Given the description of an element on the screen output the (x, y) to click on. 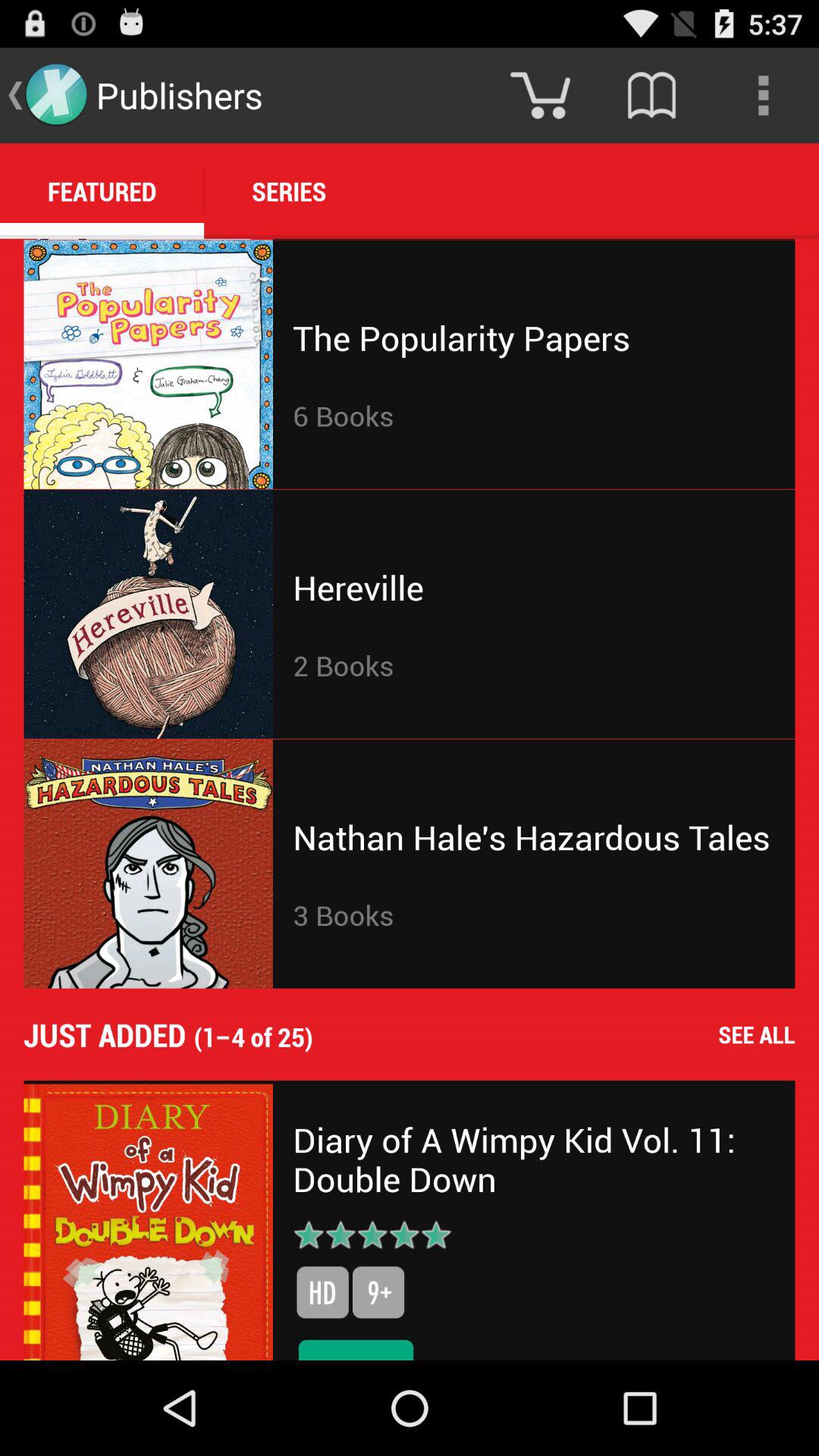
turn on item to the left of the series icon (102, 190)
